Given the description of an element on the screen output the (x, y) to click on. 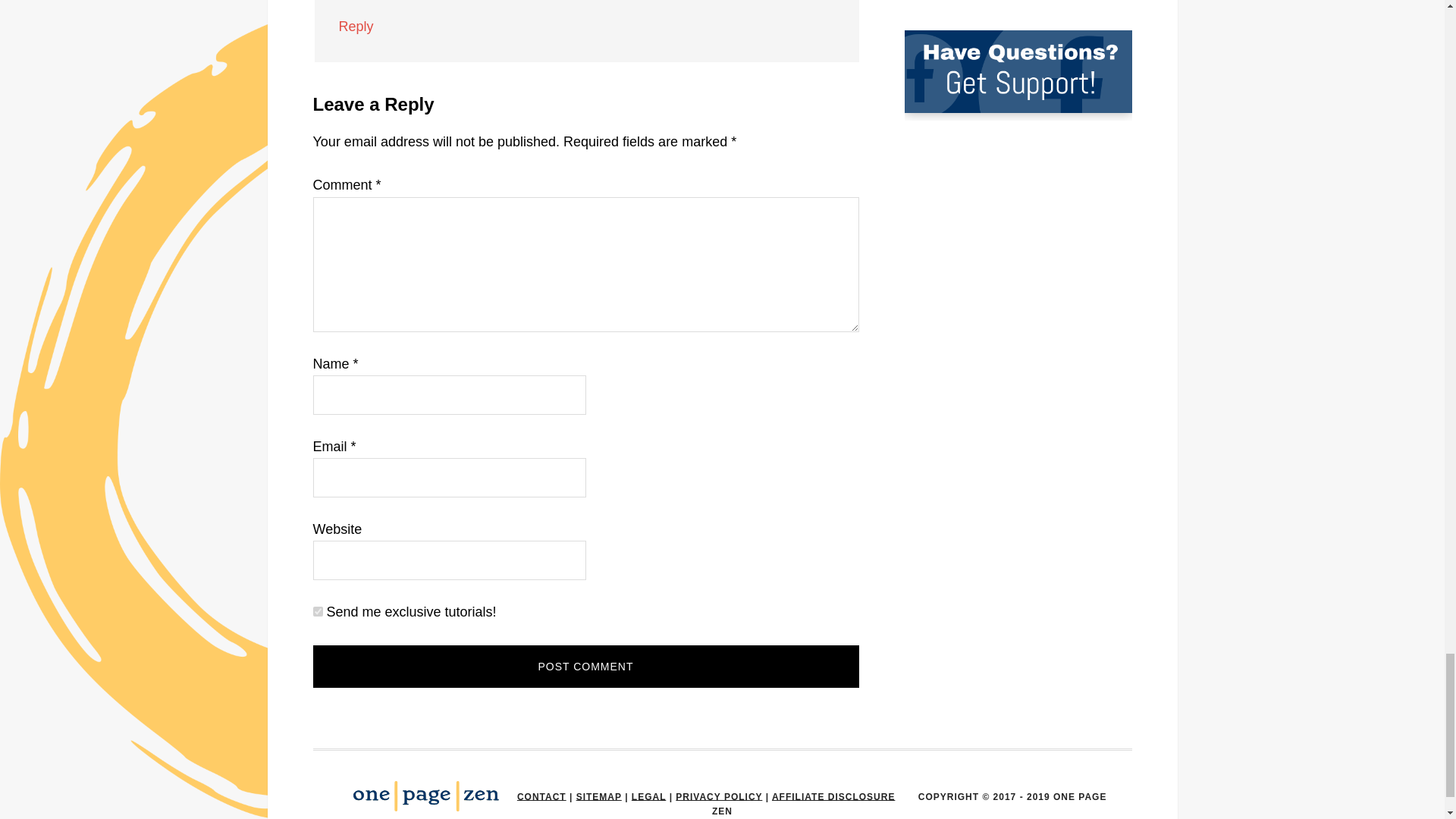
Post Comment (586, 666)
1 (317, 611)
